Given the description of an element on the screen output the (x, y) to click on. 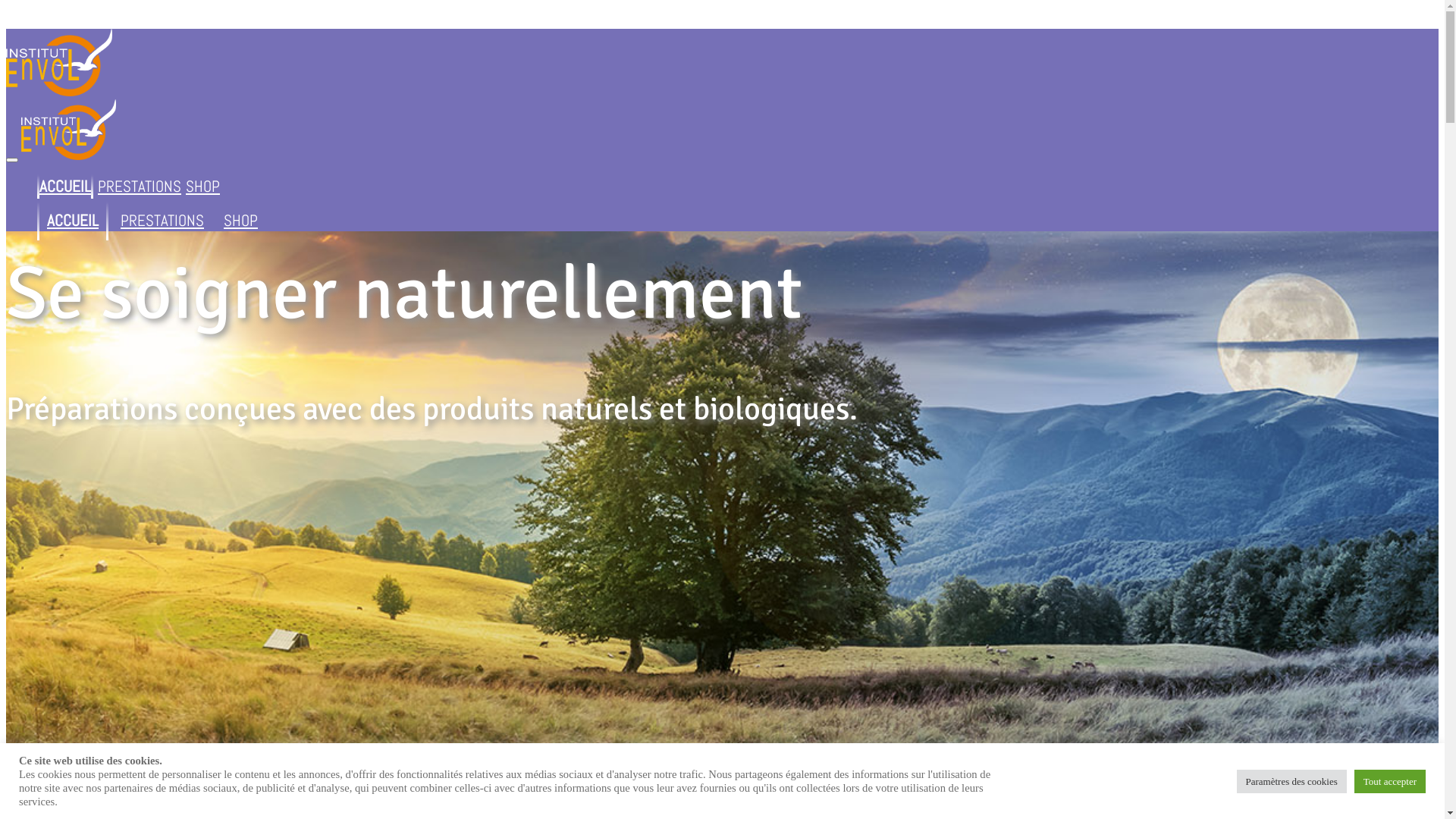
SHOP Element type: text (202, 185)
SHOP Element type: text (240, 220)
PRESTATIONS Element type: text (161, 220)
PRESTATIONS Element type: text (139, 185)
Tout accepter Element type: text (1389, 780)
ACCUEIL Element type: text (65, 185)
ACCUEIL Element type: text (72, 220)
